Given the description of an element on the screen output the (x, y) to click on. 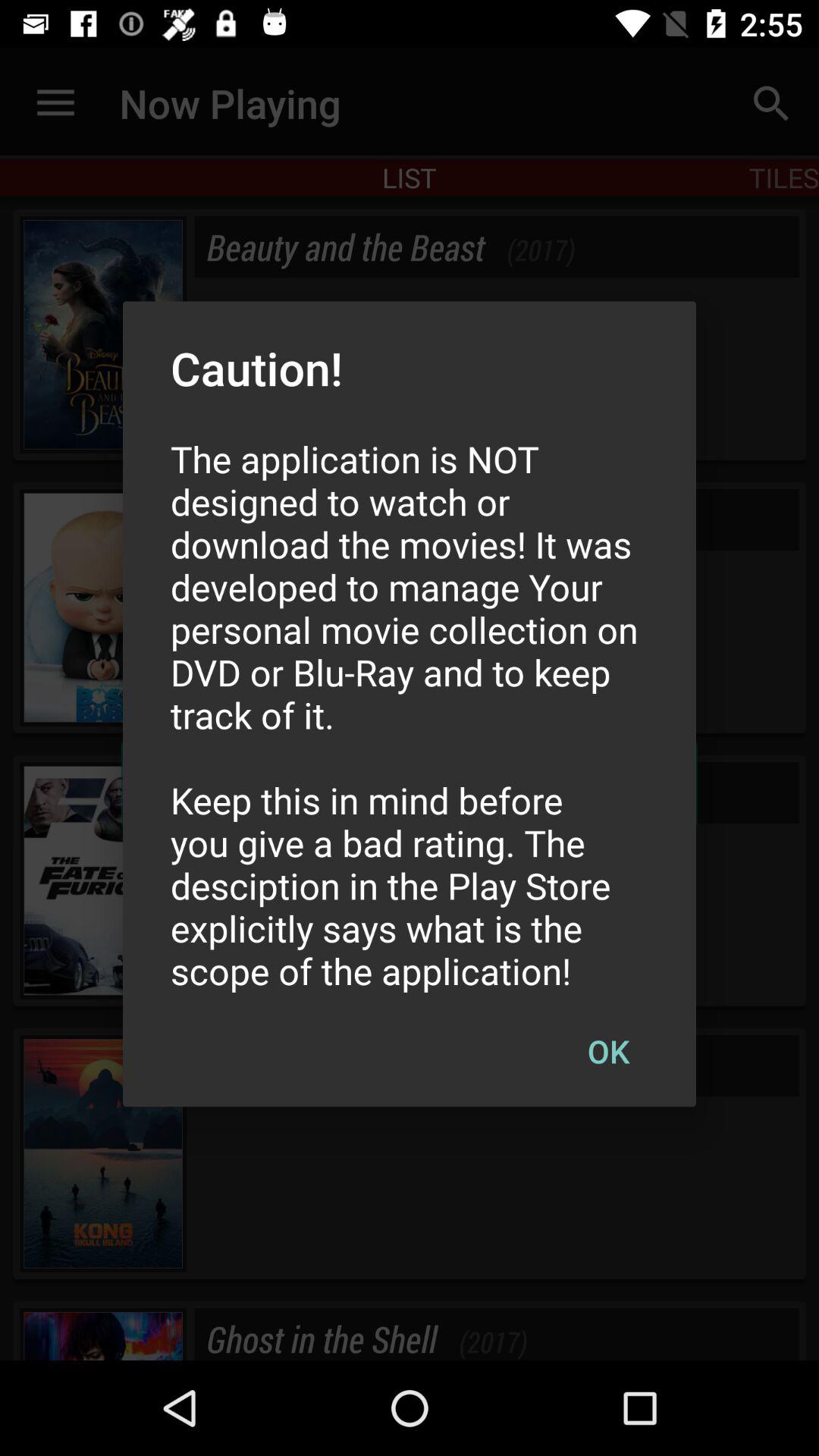
click the ok (608, 1050)
